Given the description of an element on the screen output the (x, y) to click on. 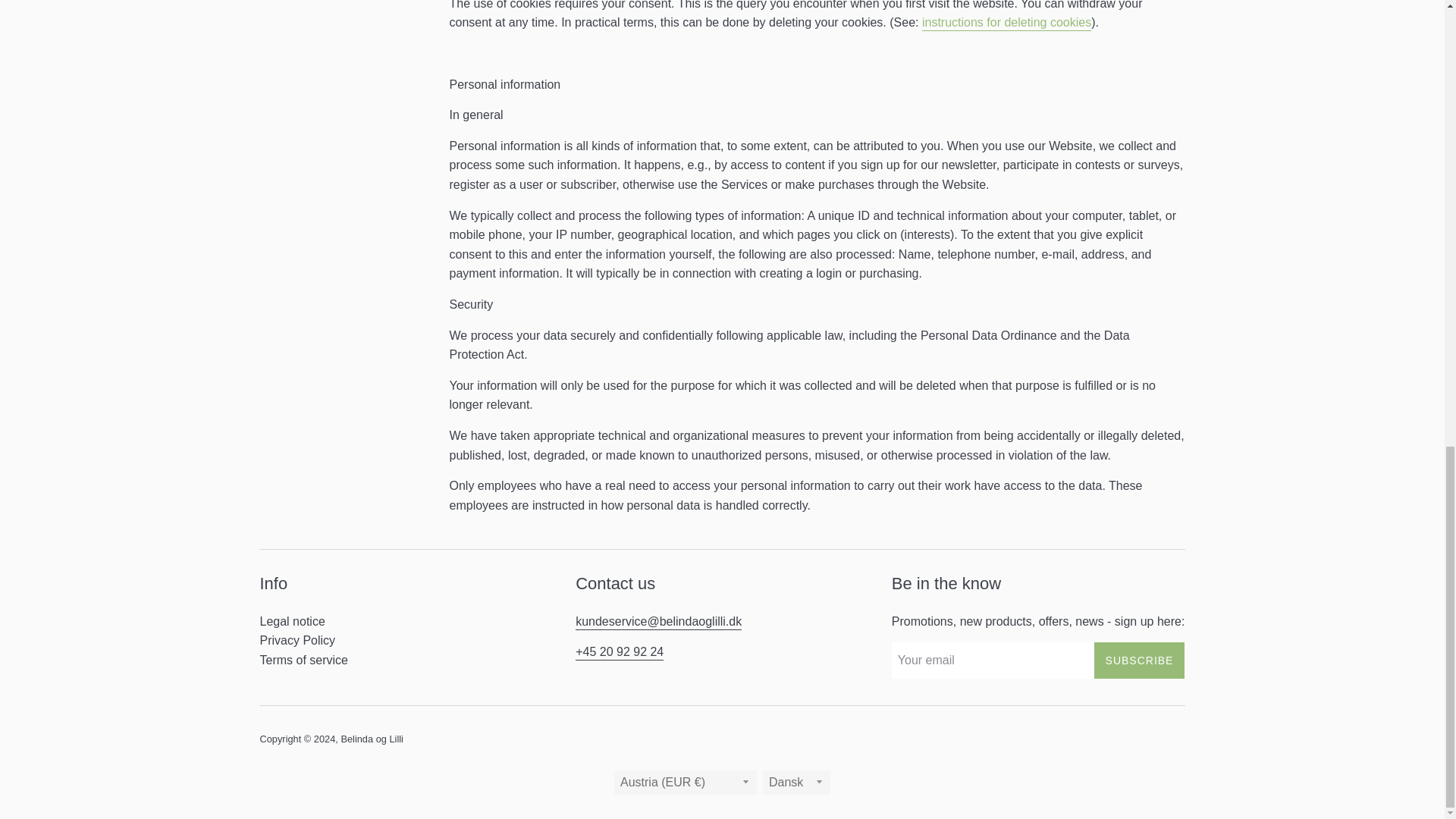
instructions for deleting cookies (1005, 23)
Terms of service (303, 659)
SUBSCRIBE (1139, 660)
Legal notice (291, 621)
Privacy Policy (296, 640)
Belinda og Lilli (371, 738)
